Given the description of an element on the screen output the (x, y) to click on. 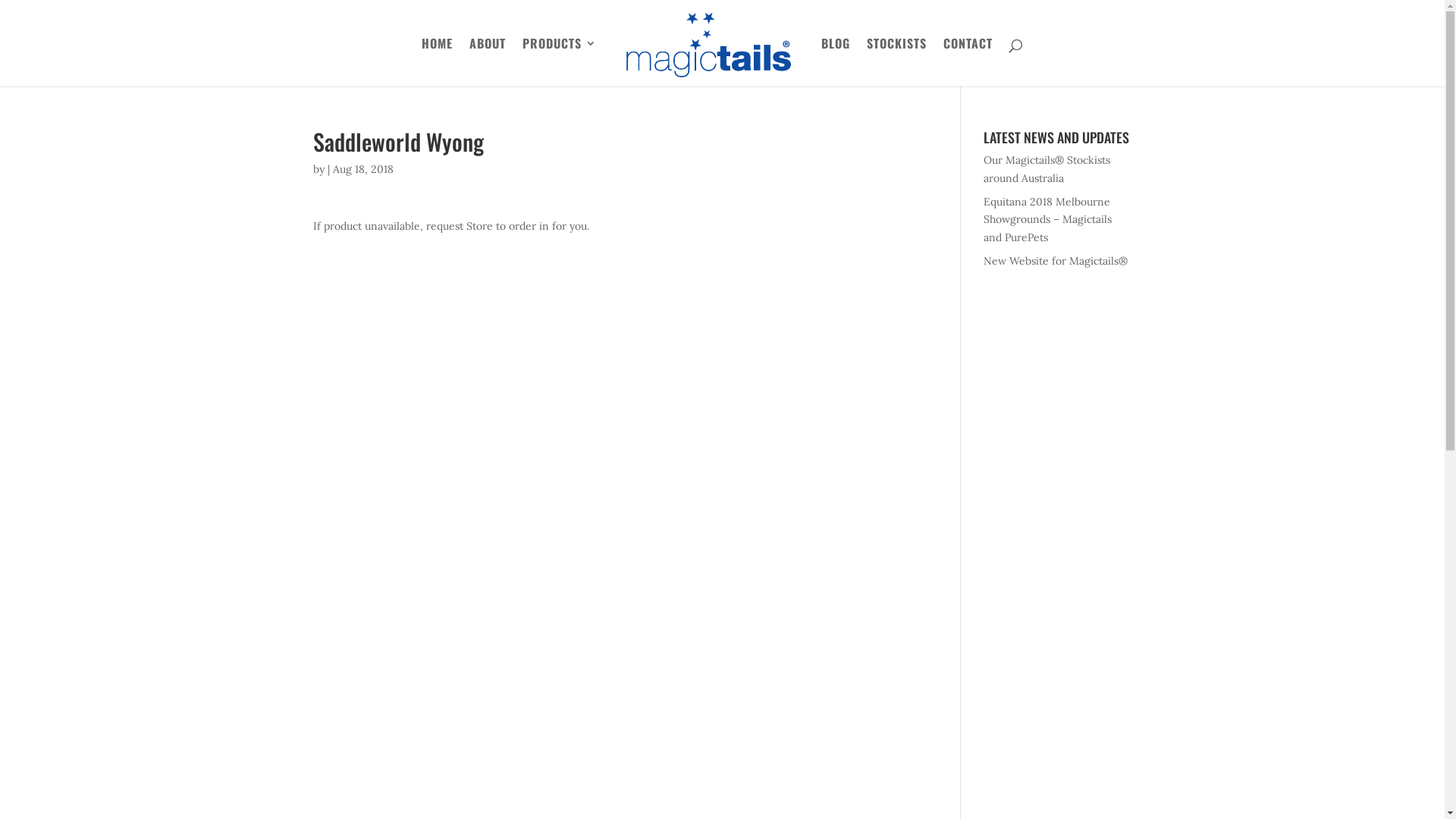
STOCKISTS Element type: text (896, 61)
HOME Element type: text (436, 61)
CONTACT Element type: text (967, 61)
BLOG Element type: text (835, 61)
ABOUT Element type: text (487, 61)
PRODUCTS Element type: text (559, 61)
